Given the description of an element on the screen output the (x, y) to click on. 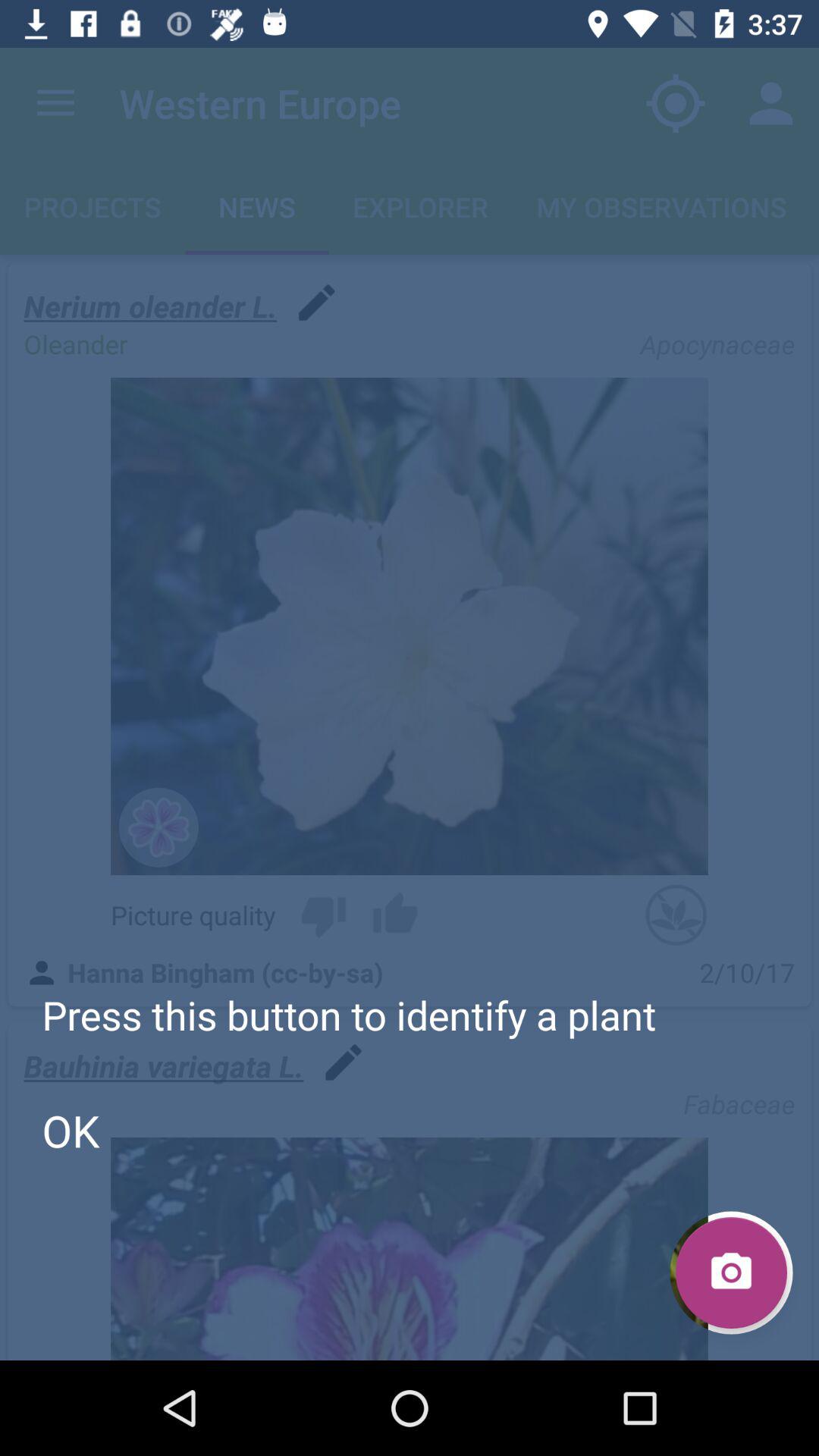
turn on icon above the hanna bingham cc item (323, 914)
